Given the description of an element on the screen output the (x, y) to click on. 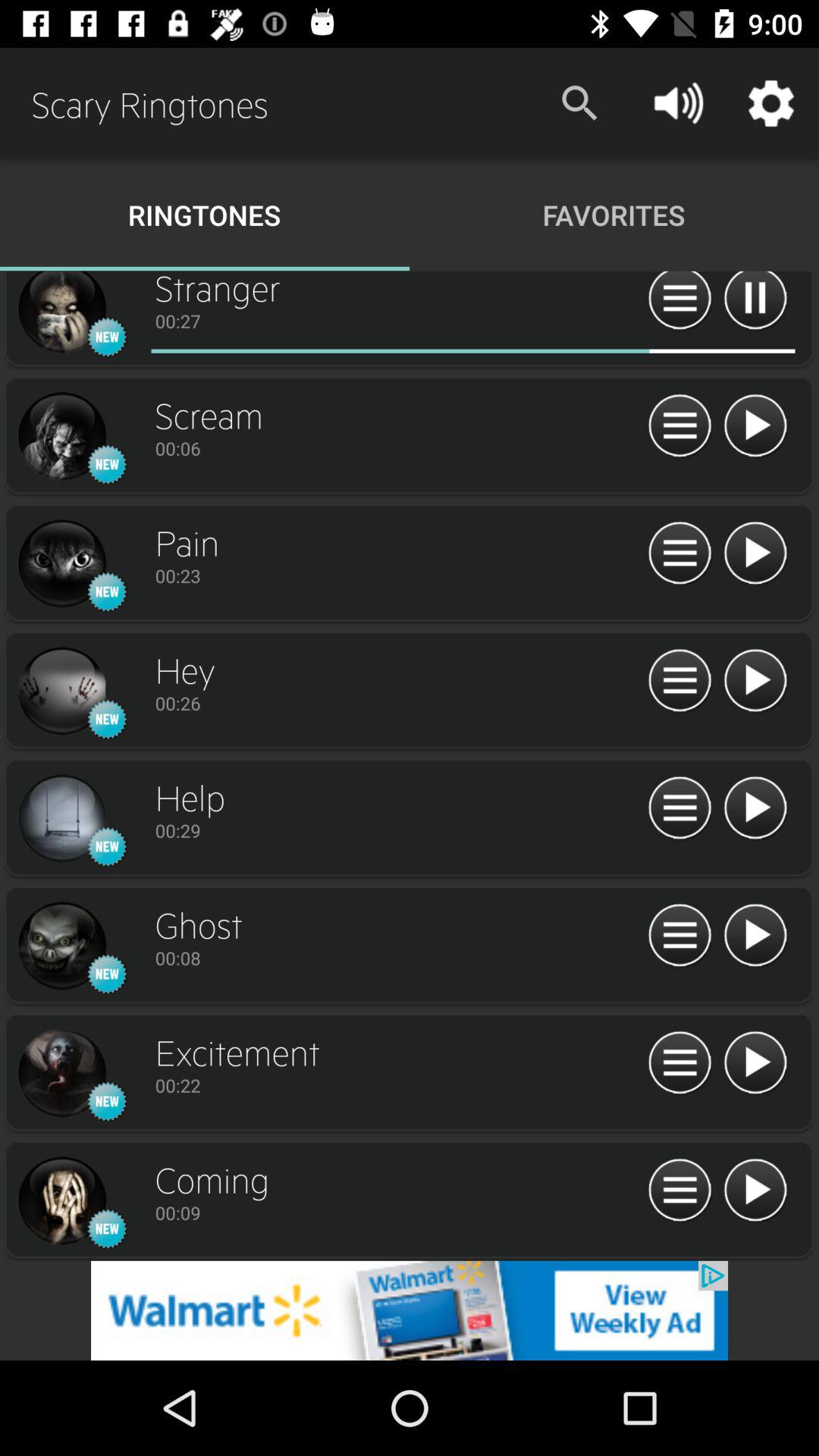
open track (61, 691)
